Given the description of an element on the screen output the (x, y) to click on. 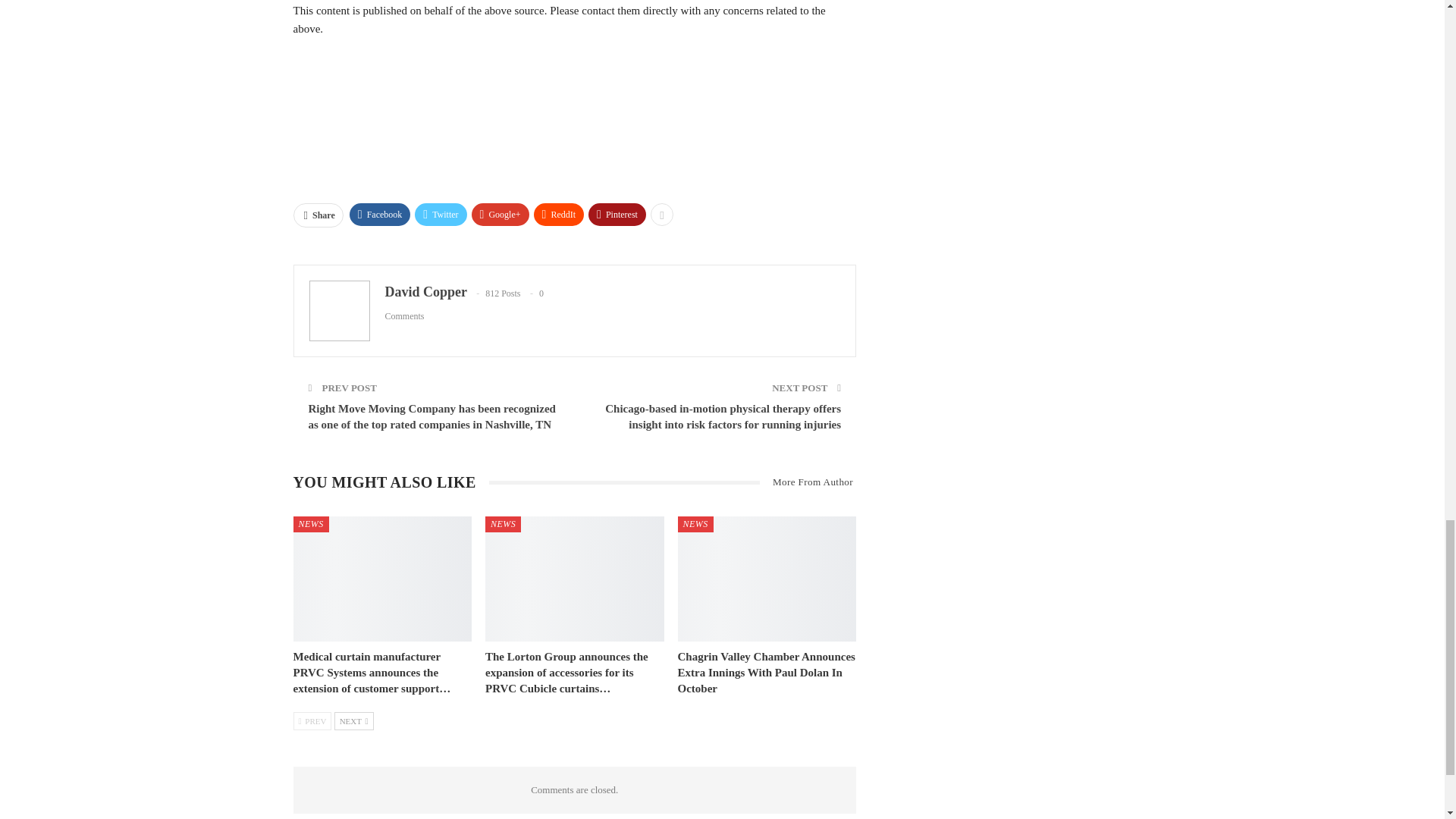
Pinterest (617, 214)
Twitter (439, 214)
ReddIt (559, 214)
Facebook (379, 214)
Previous (311, 720)
Next (354, 720)
